Given the description of an element on the screen output the (x, y) to click on. 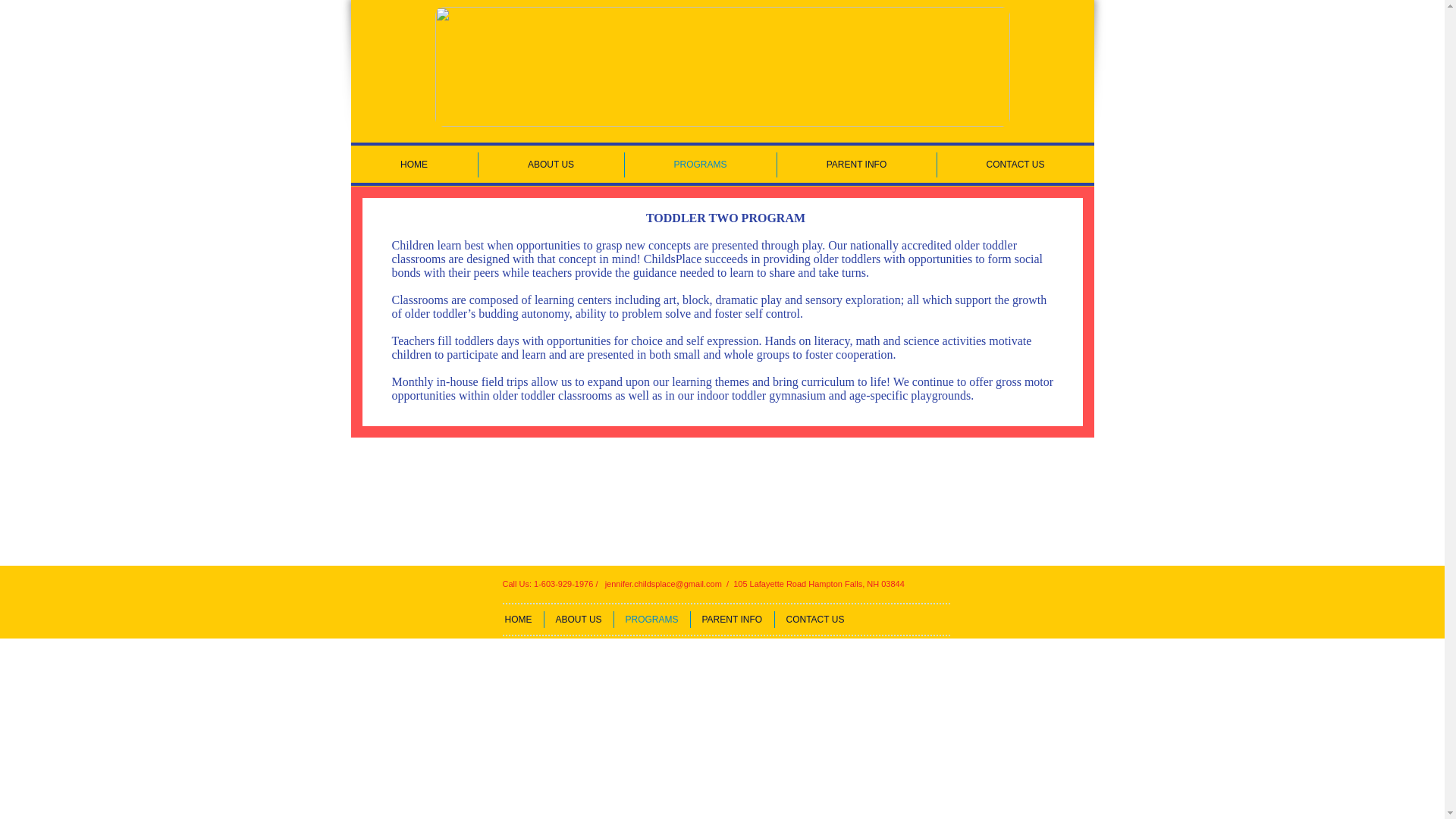
PARENT INFO (856, 164)
CONTACT US (1015, 164)
HOME (413, 164)
PROGRAMS (700, 164)
PROGRAMS (652, 619)
CONTACT US (815, 619)
ABOUT US (578, 619)
PARENT INFO (731, 619)
HOME (518, 619)
ABOUT US (550, 164)
